Given the description of an element on the screen output the (x, y) to click on. 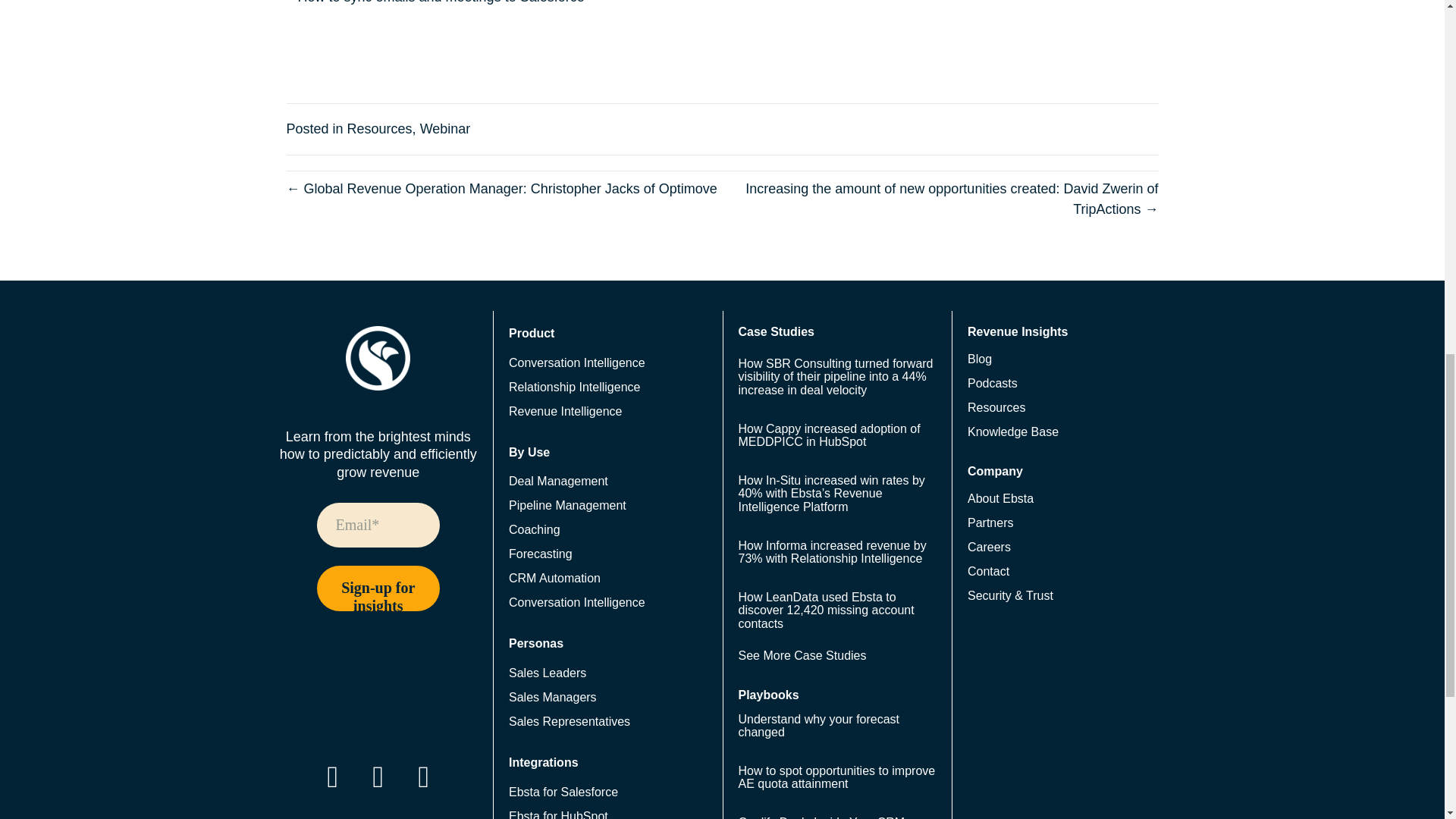
Sign-up for insights (379, 587)
